Given the description of an element on the screen output the (x, y) to click on. 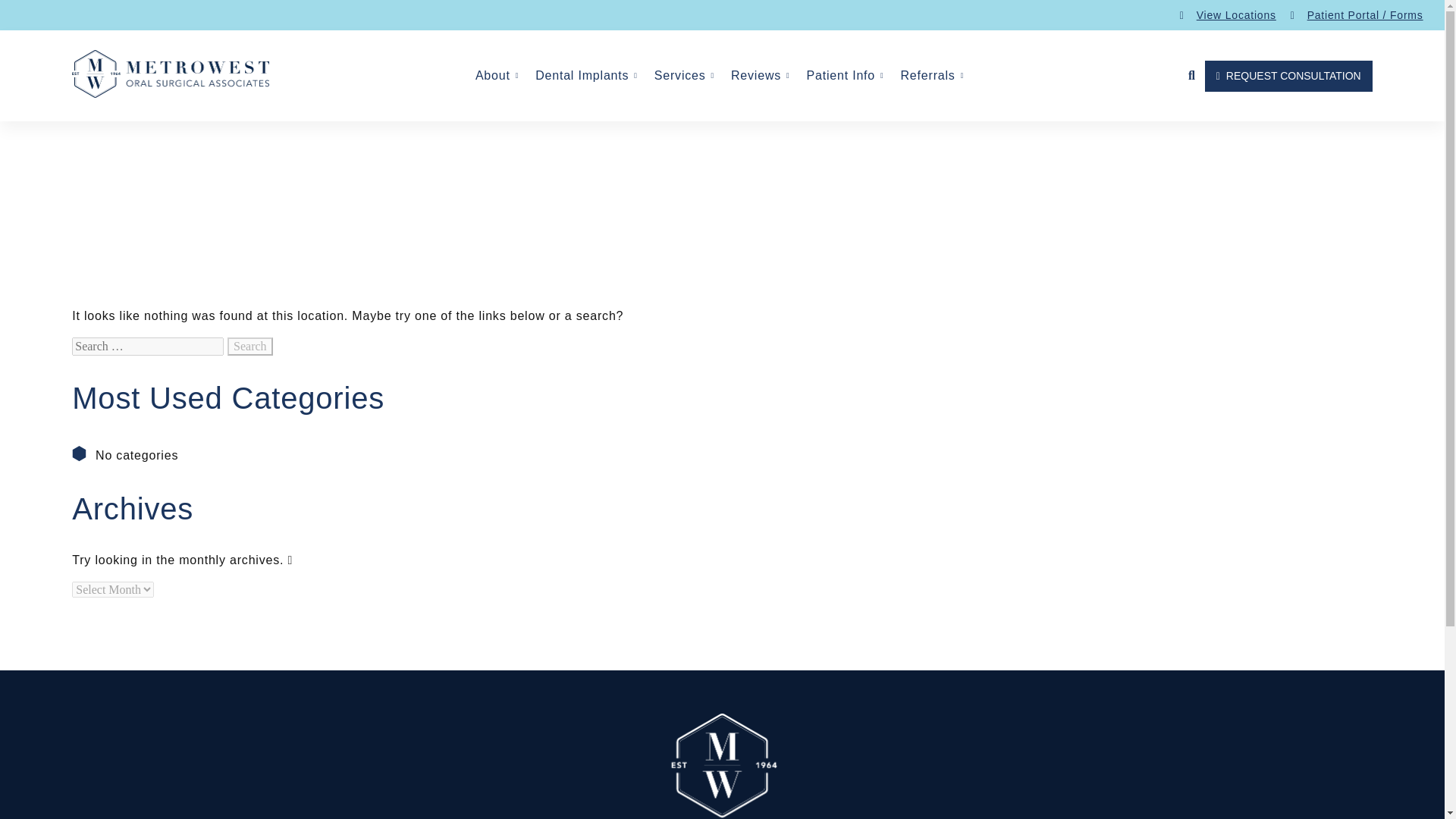
Search (250, 346)
REQUEST CONSULTATION (1289, 75)
Reviews (762, 74)
Search (250, 346)
